Given the description of an element on the screen output the (x, y) to click on. 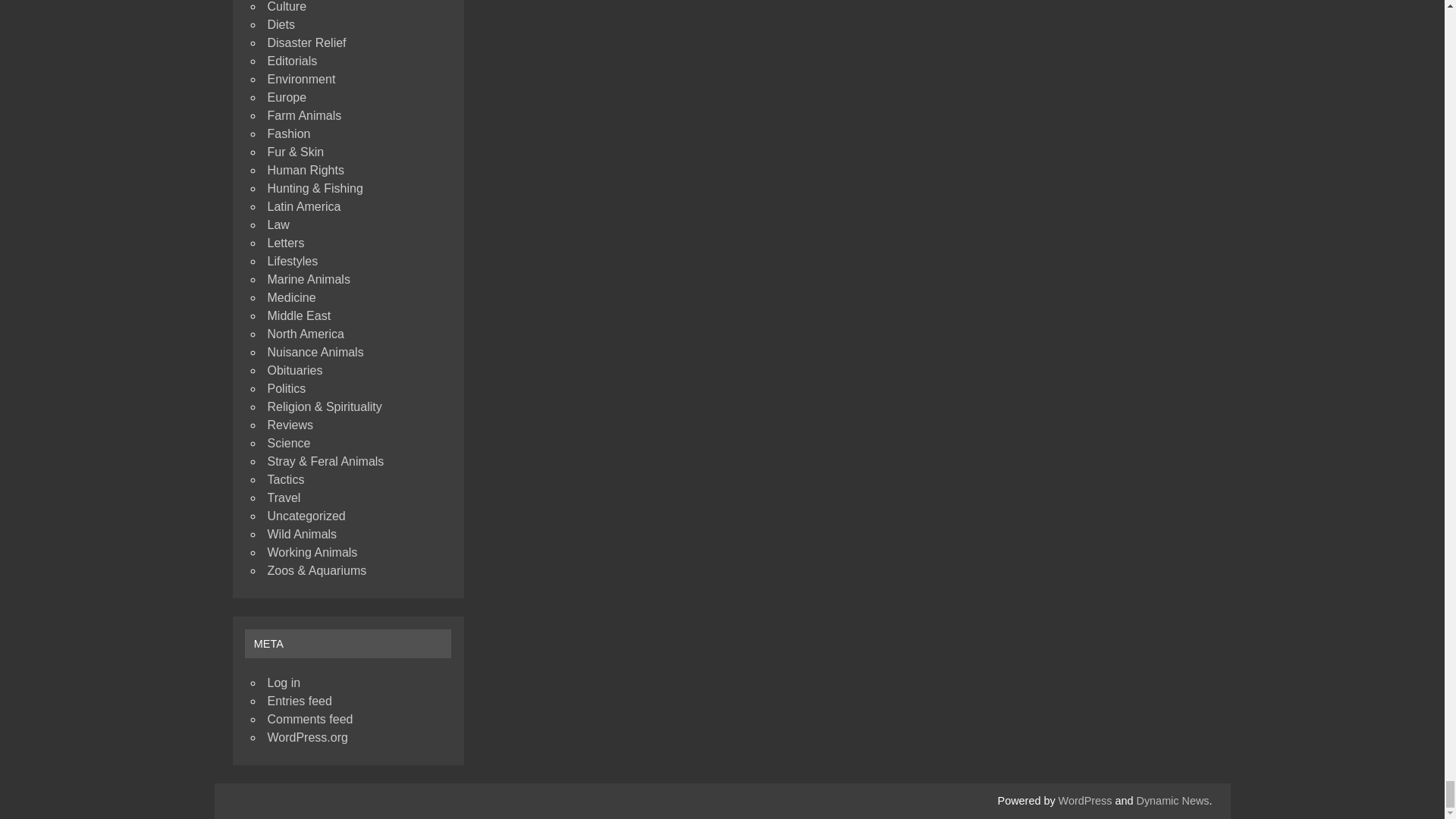
WordPress (1085, 800)
Dynamic News WordPress Theme (1173, 800)
